Given the description of an element on the screen output the (x, y) to click on. 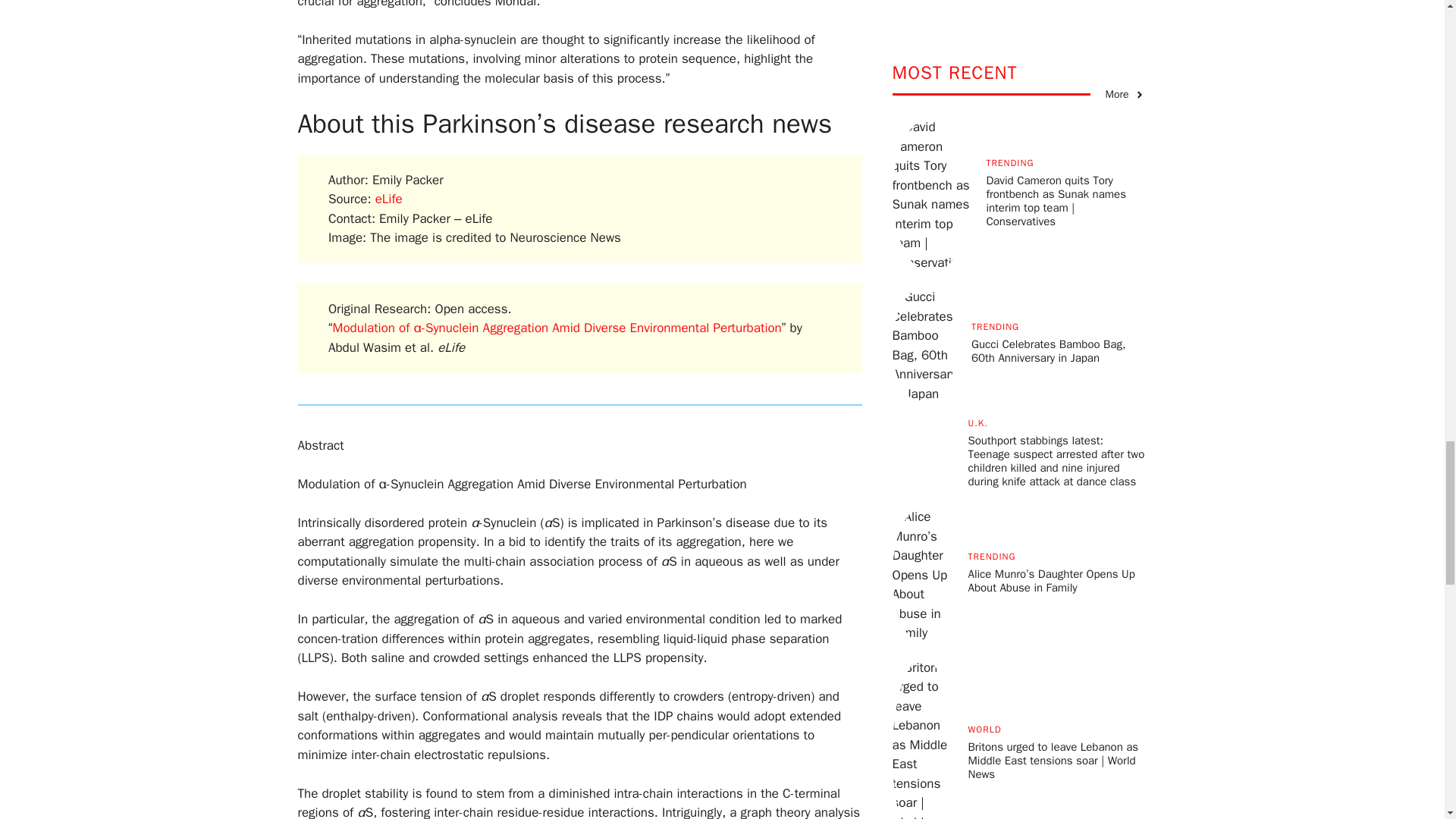
eLife (389, 198)
